Given the description of an element on the screen output the (x, y) to click on. 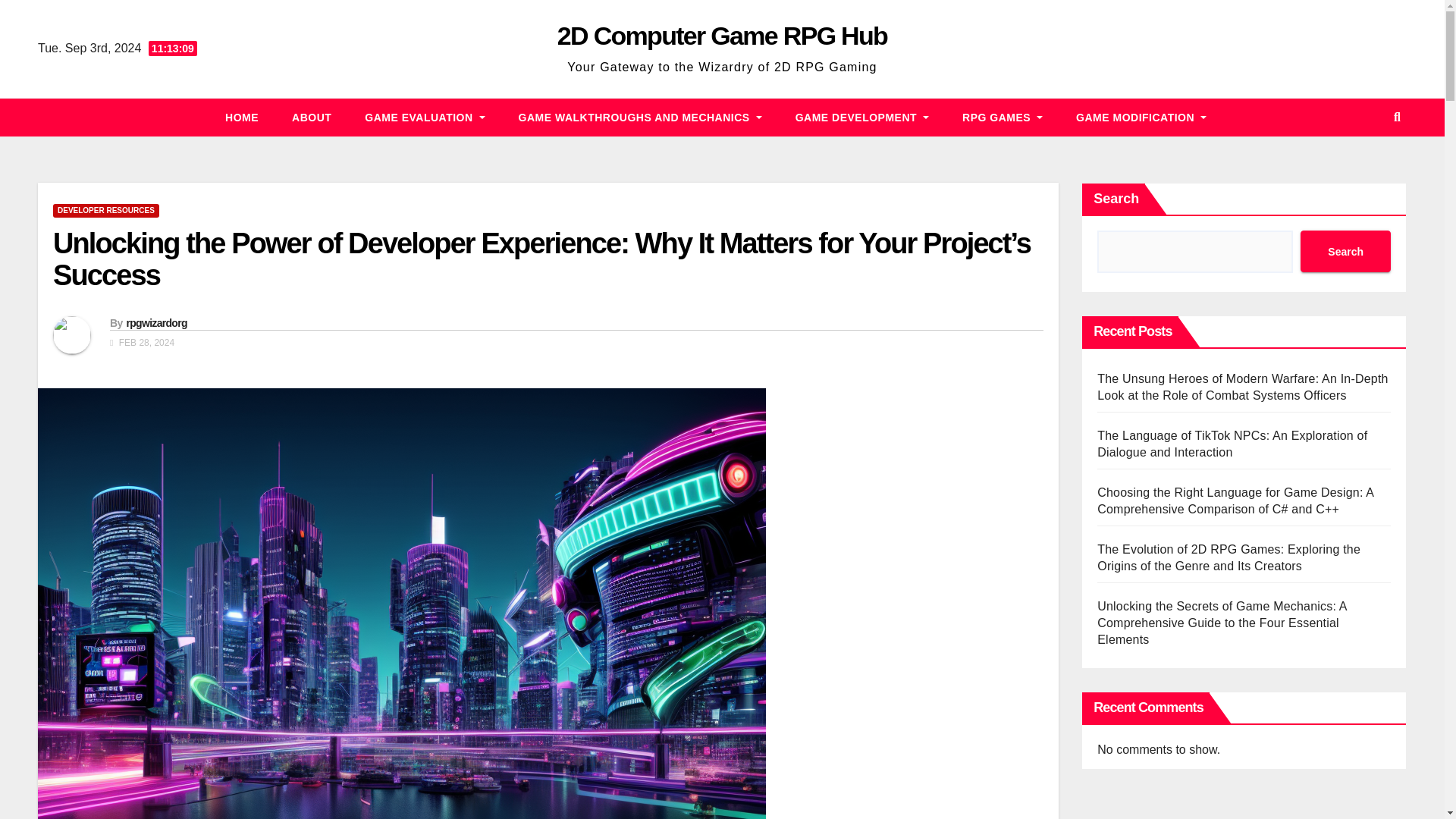
HOME (241, 117)
RPG GAMES (1001, 117)
ABOUT (311, 117)
Home (241, 117)
Game Evaluation (423, 117)
2D Computer Game RPG Hub (721, 35)
About (311, 117)
Game Walkthroughs and Mechanics (640, 117)
DEVELOPER RESOURCES (105, 210)
GAME MODIFICATION (1141, 117)
